Given the description of an element on the screen output the (x, y) to click on. 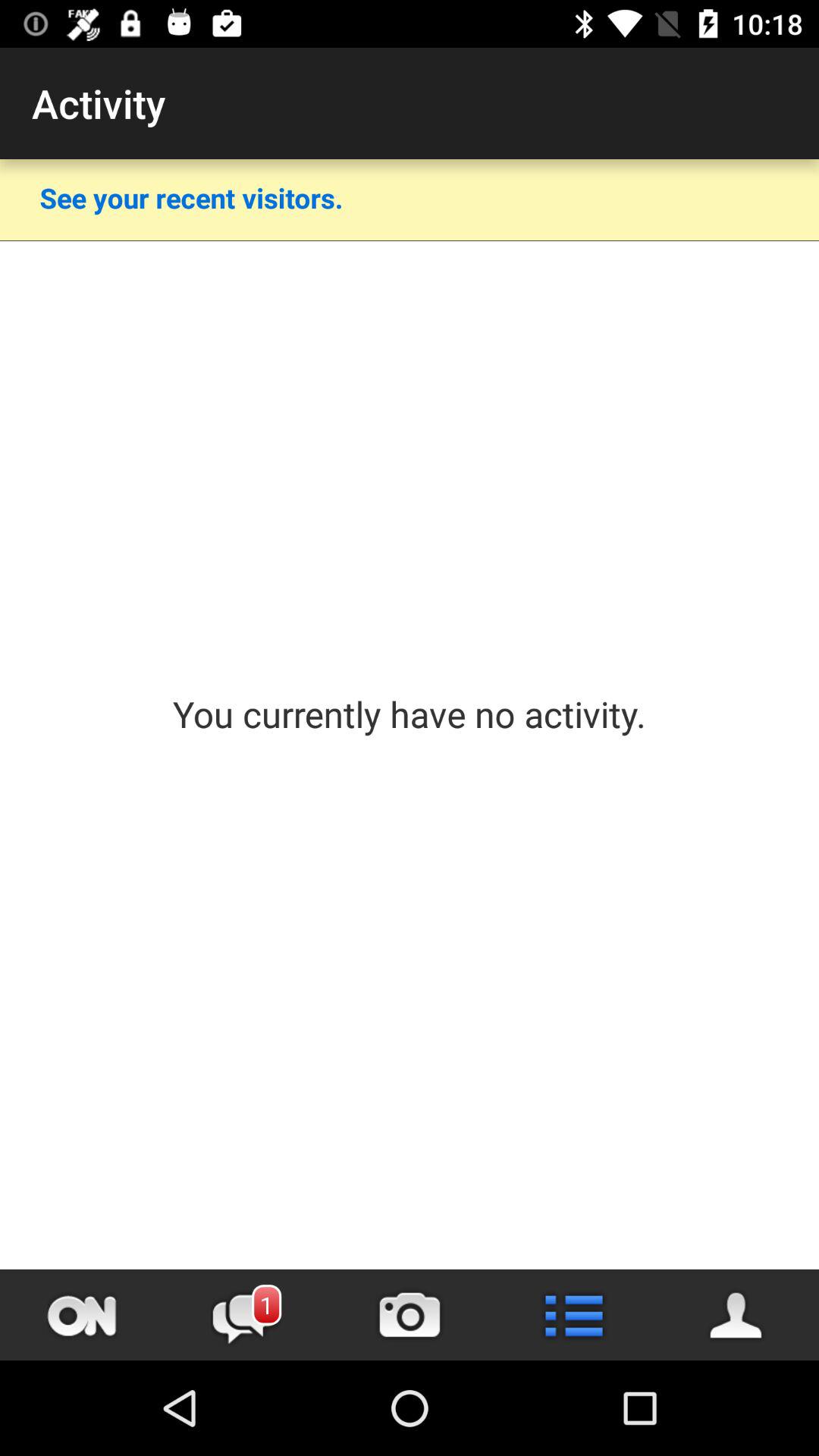
people (737, 1315)
